Given the description of an element on the screen output the (x, y) to click on. 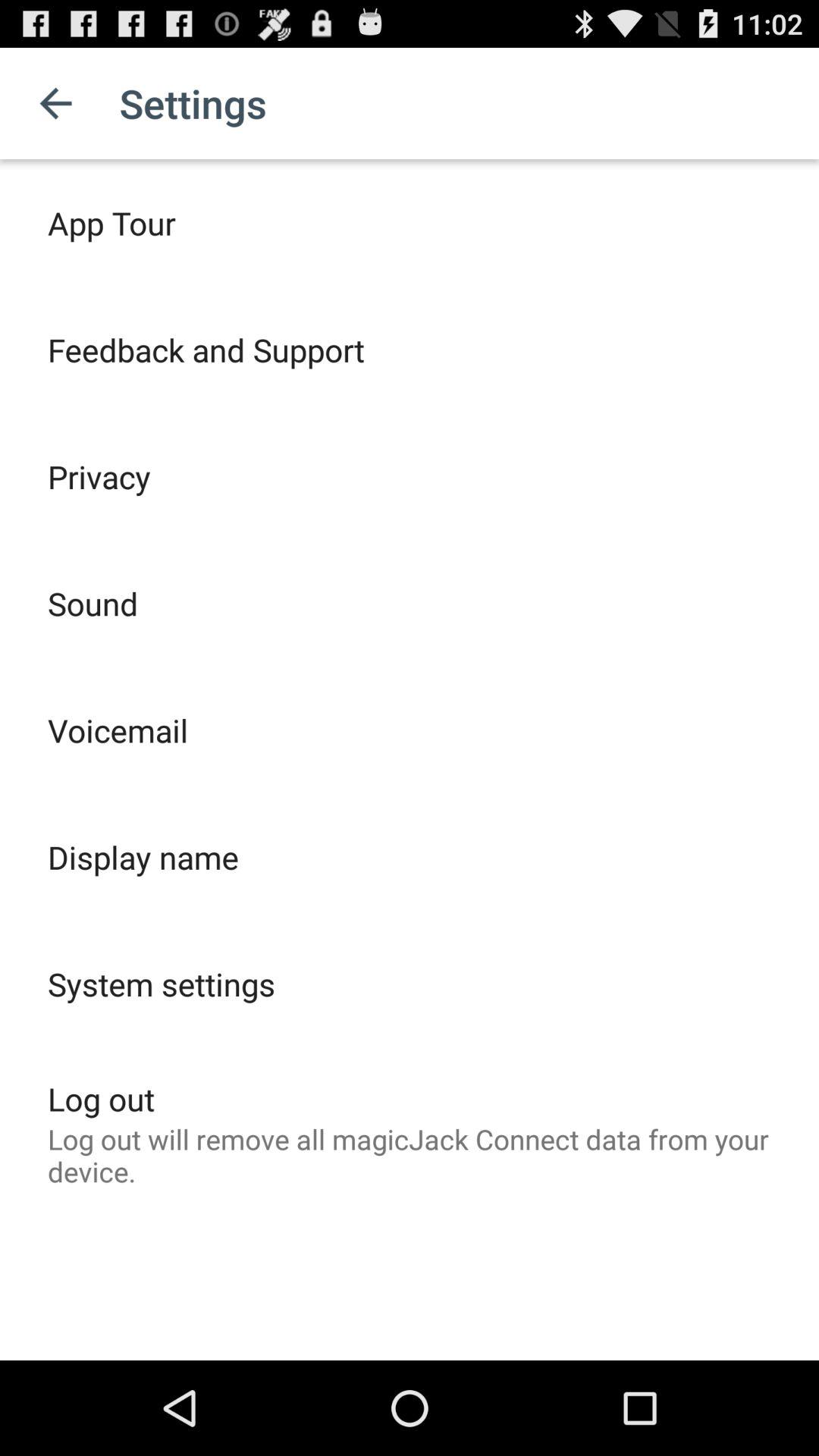
jump until sound item (92, 603)
